Given the description of an element on the screen output the (x, y) to click on. 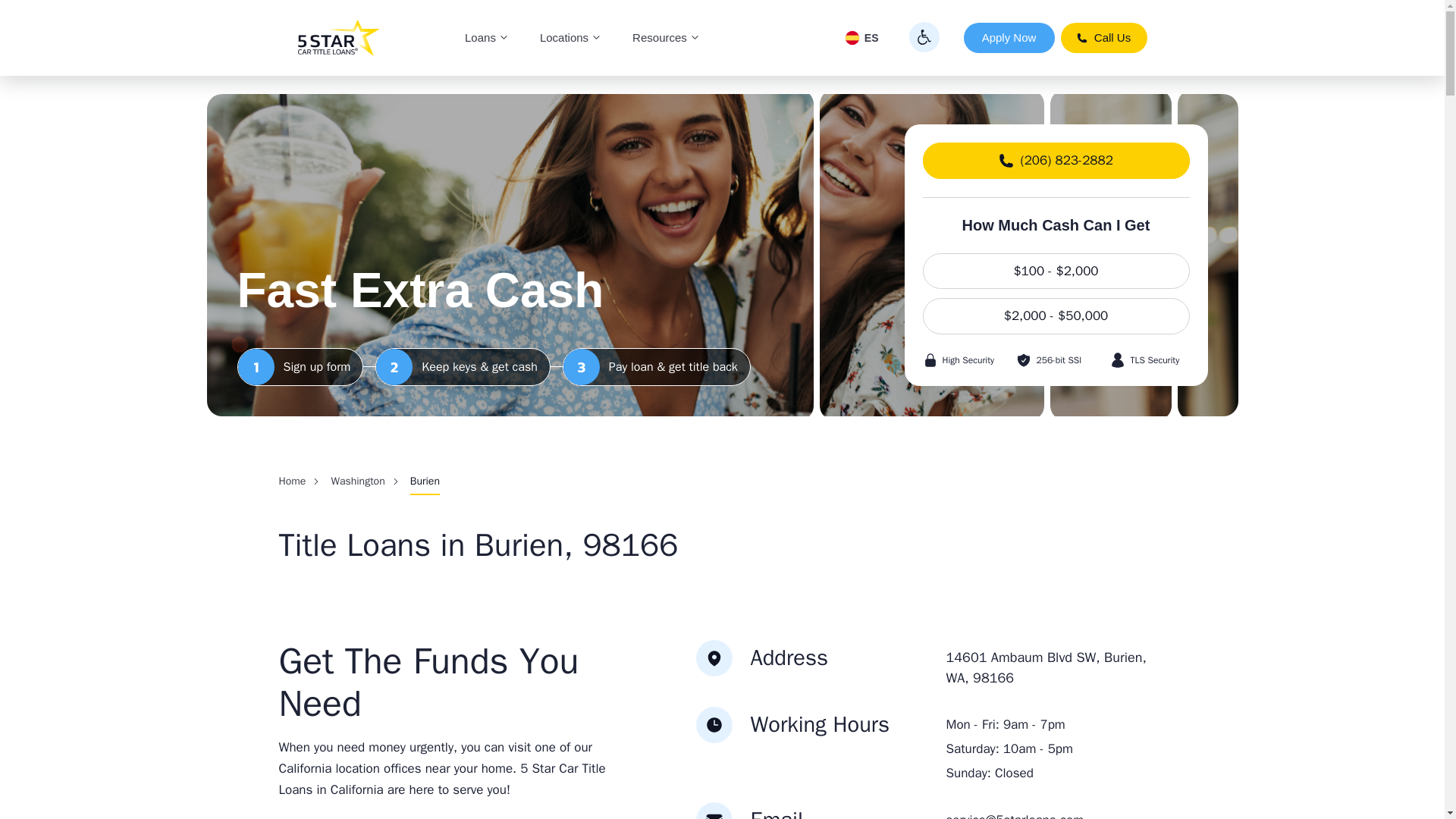
Resources (666, 37)
Locations (570, 37)
Loans (486, 37)
Call Us (1103, 37)
Apply Now (1008, 37)
Home (292, 481)
ES (861, 37)
Washington (357, 481)
